Given the description of an element on the screen output the (x, y) to click on. 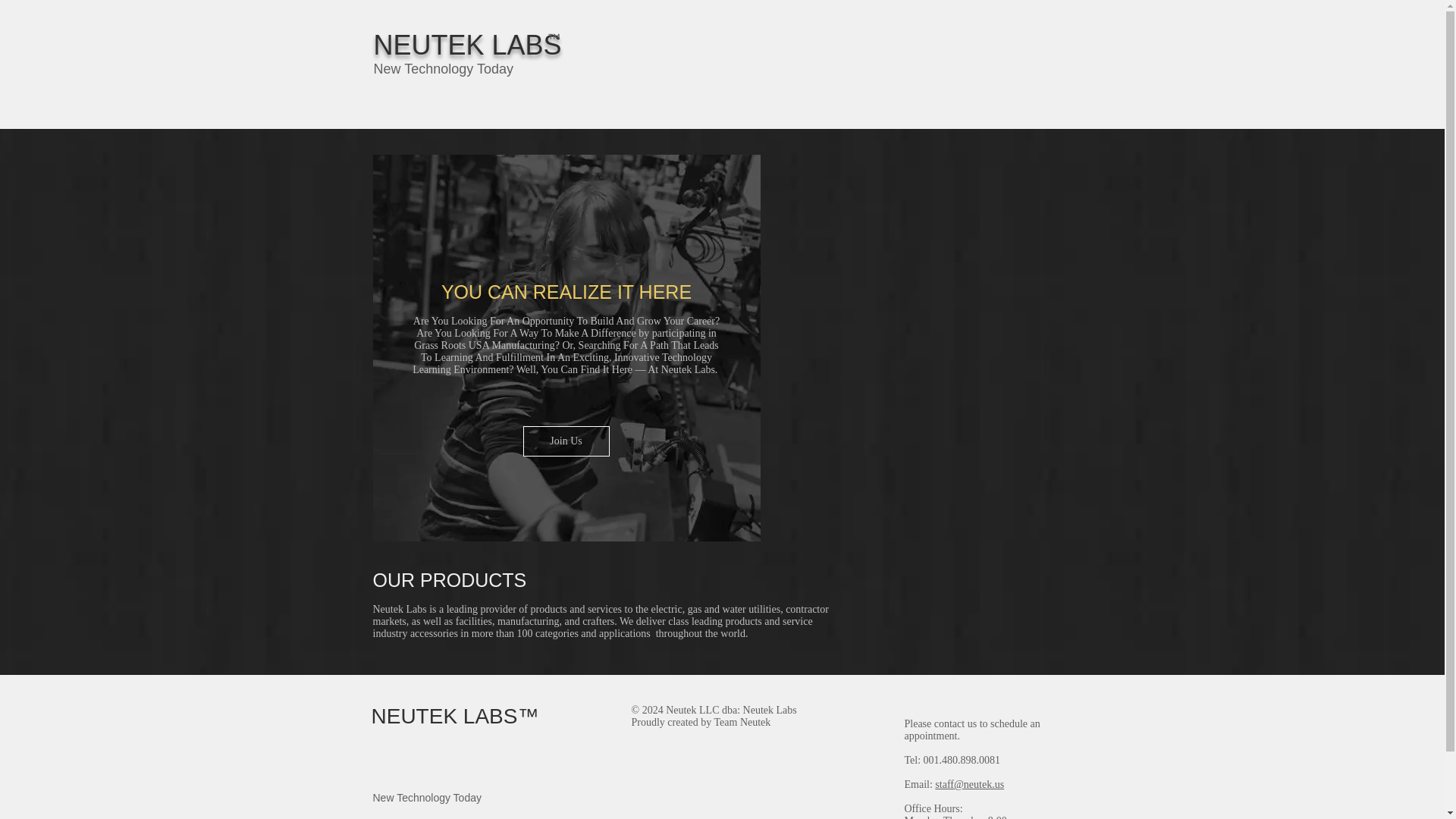
Team Neutek (742, 722)
Join Us (566, 440)
New Technology Today (442, 68)
NEUTEK LABS (466, 44)
